Given the description of an element on the screen output the (x, y) to click on. 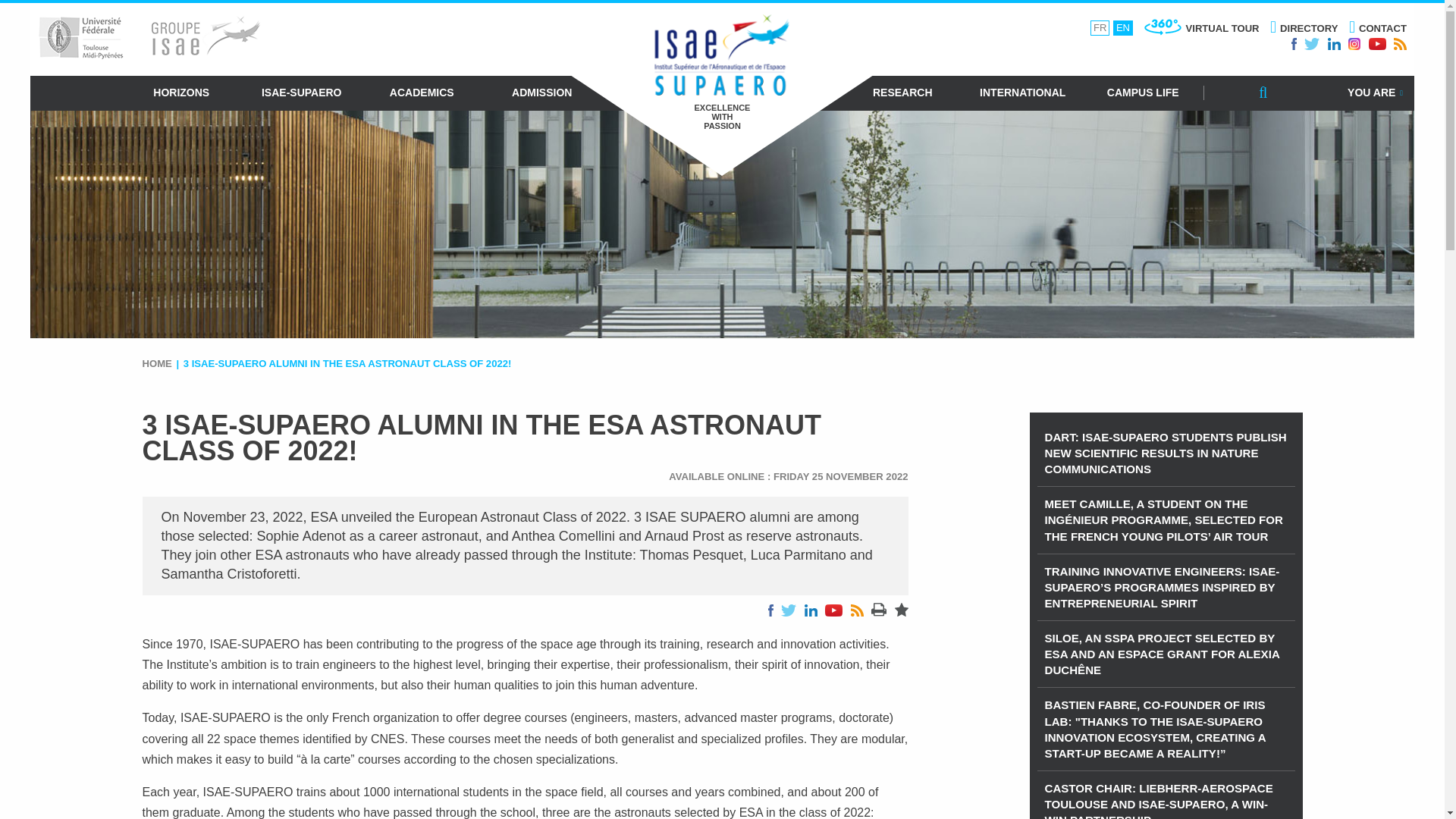
English (1122, 28)
ISAE-SUPAERO (301, 93)
FR (1099, 28)
VIRTUAL TOUR (1201, 28)
EXCELLENCE WITH PASSION (721, 72)
ISAE-SUPAERO - Home (721, 72)
Instagram (1353, 43)
CONTACT (1377, 28)
Youtube (1377, 43)
DIRECTORY (1303, 28)
